Given the description of an element on the screen output the (x, y) to click on. 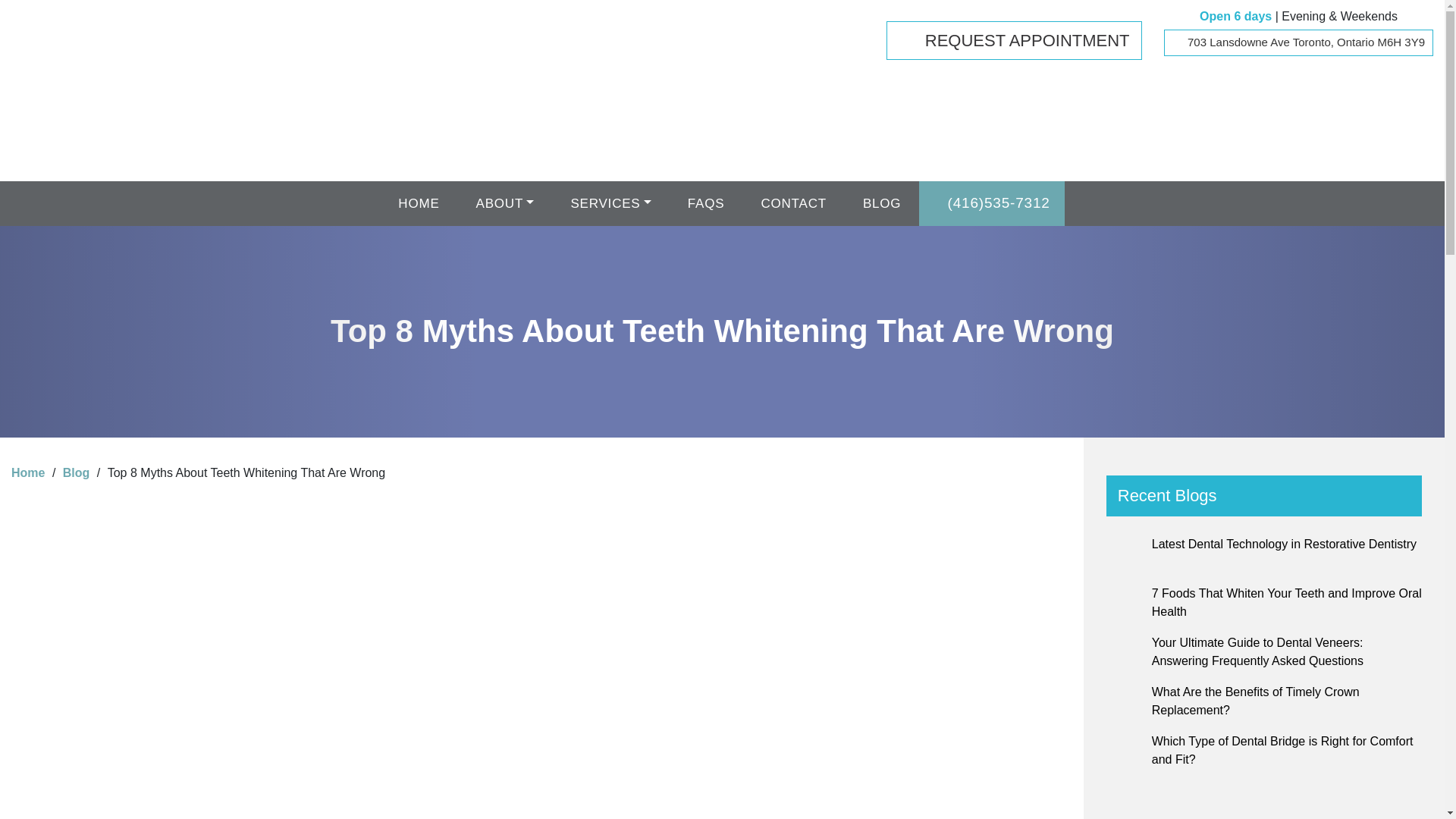
Bloor Lansdowne Dental Centre (124, 67)
HOME (418, 203)
FAQS (705, 203)
703 Lansdowne Ave Toronto, Ontario M6H 3Y9 (1297, 42)
REQUEST APPOINTMENT (1013, 40)
ABOUT (505, 203)
CONTACT (793, 203)
SERVICES (609, 203)
BLOG (881, 203)
